Given the description of an element on the screen output the (x, y) to click on. 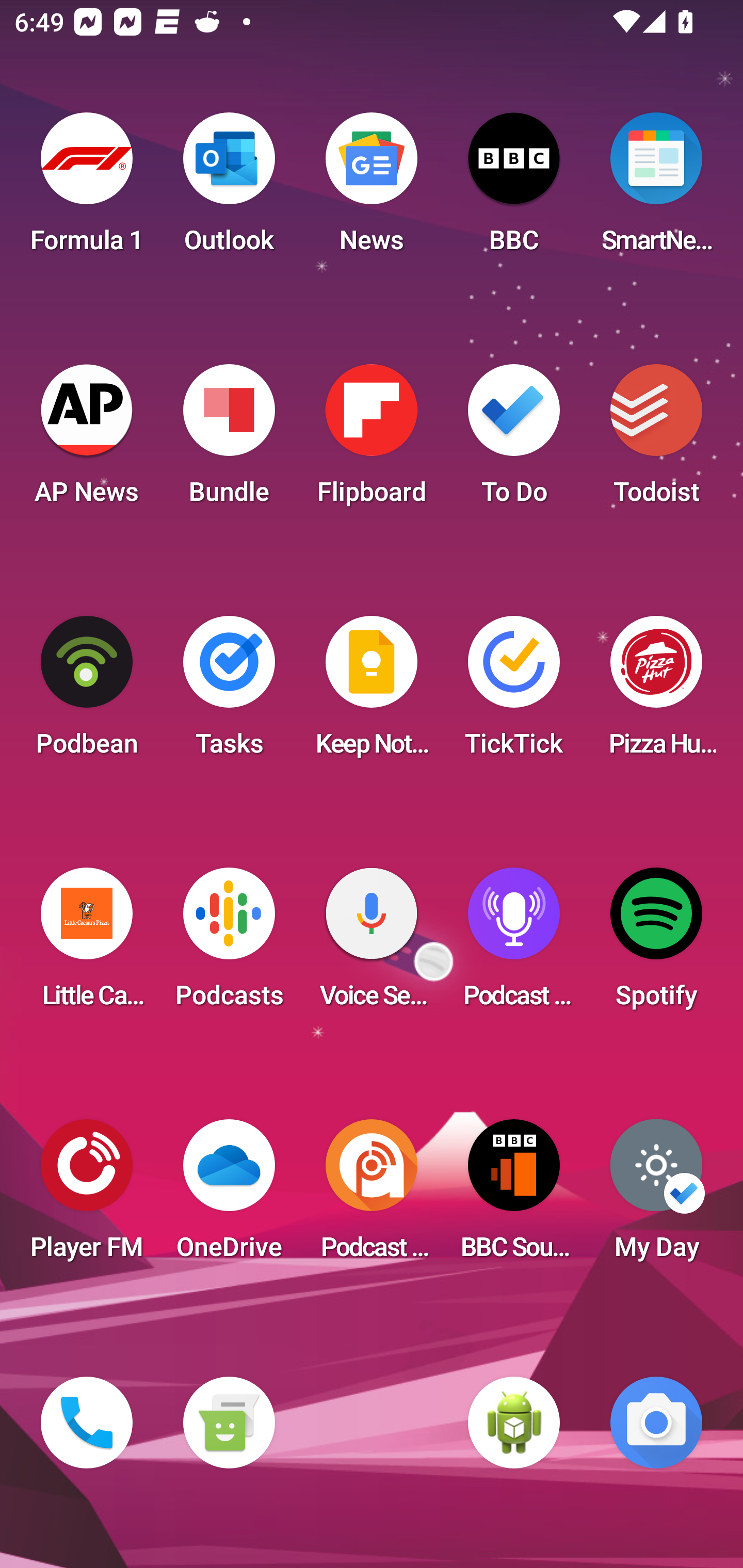
Formula 1 (86, 188)
Outlook (228, 188)
News (371, 188)
BBC (513, 188)
SmartNews (656, 188)
AP News (86, 440)
Bundle (228, 440)
Flipboard (371, 440)
To Do (513, 440)
Todoist (656, 440)
Podbean (86, 692)
Tasks (228, 692)
Keep Notes (371, 692)
TickTick (513, 692)
Pizza Hut HK & Macau (656, 692)
Little Caesars Pizza (86, 943)
Podcasts (228, 943)
Voice Search (371, 943)
Podcast Player (513, 943)
Spotify (656, 943)
Player FM (86, 1195)
OneDrive (228, 1195)
Podcast Addict (371, 1195)
BBC Sounds (513, 1195)
My Day (656, 1195)
Phone (86, 1422)
Messaging (228, 1422)
WebView Browser Tester (513, 1422)
Camera (656, 1422)
